Given the description of an element on the screen output the (x, y) to click on. 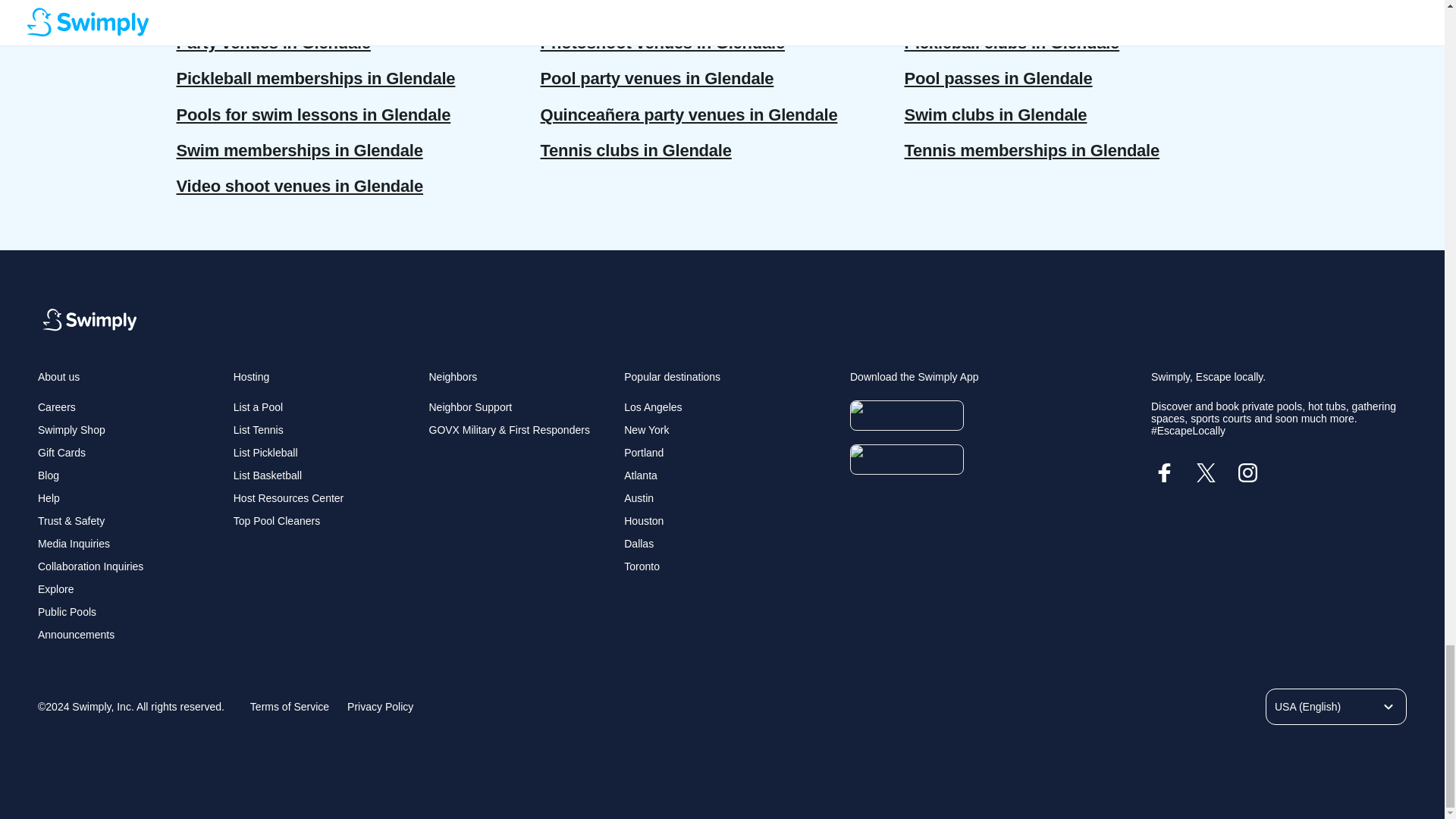
Public Pools (66, 612)
Top Pool Cleaners (276, 521)
Los Angeles (652, 407)
Host Resources Center (287, 498)
Explore (55, 589)
Media Inquiries (73, 543)
List Tennis (257, 429)
Careers (56, 407)
Announcements (76, 634)
List Basketball (266, 475)
